Given the description of an element on the screen output the (x, y) to click on. 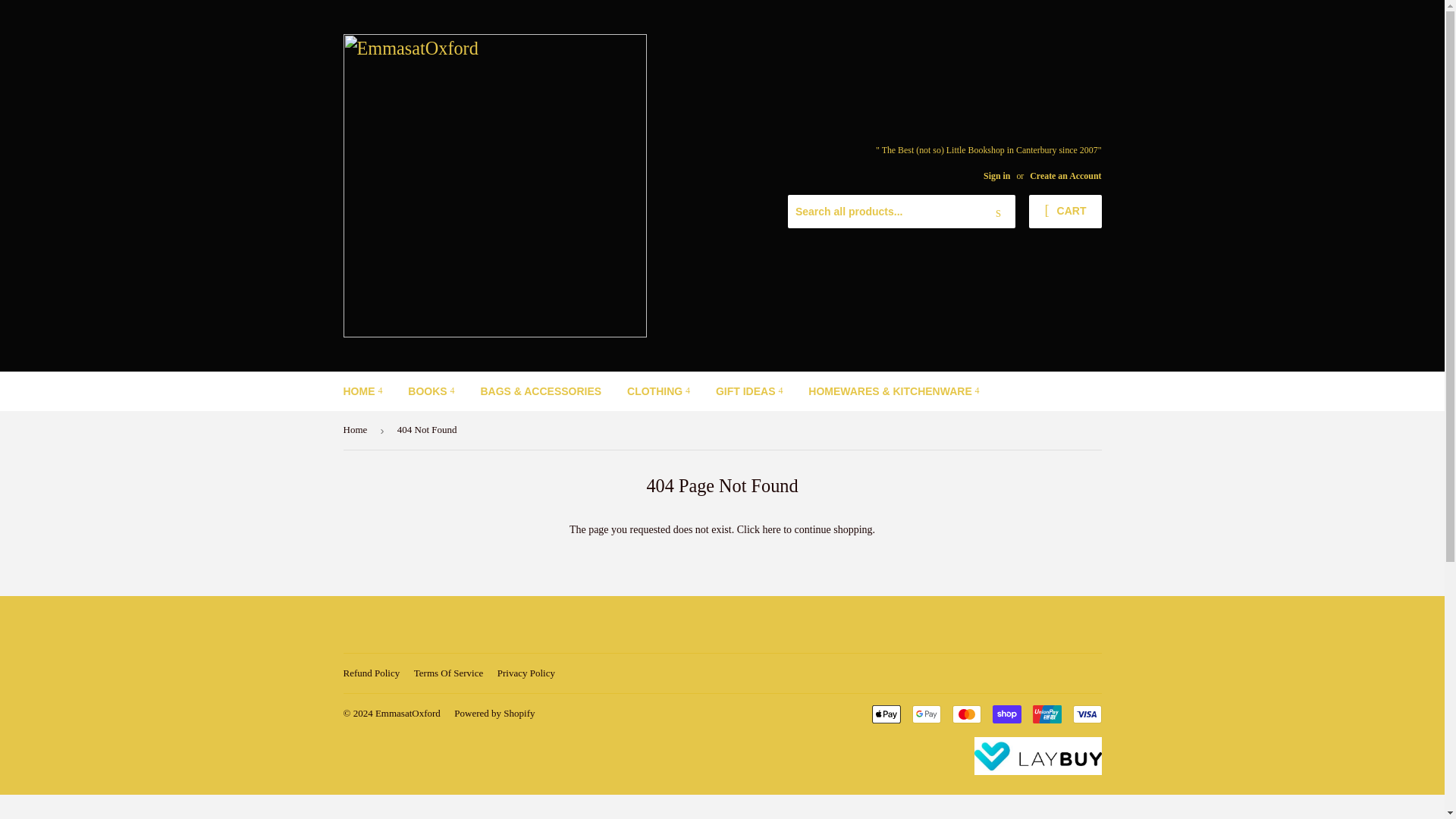
CART (1064, 211)
Mastercard (966, 714)
Visa (1085, 714)
Sign in (997, 175)
Google Pay (925, 714)
Union Pay (1046, 714)
Apple Pay (886, 714)
Shop Pay (1005, 714)
Search (997, 212)
Create an Account (1064, 175)
